Given the description of an element on the screen output the (x, y) to click on. 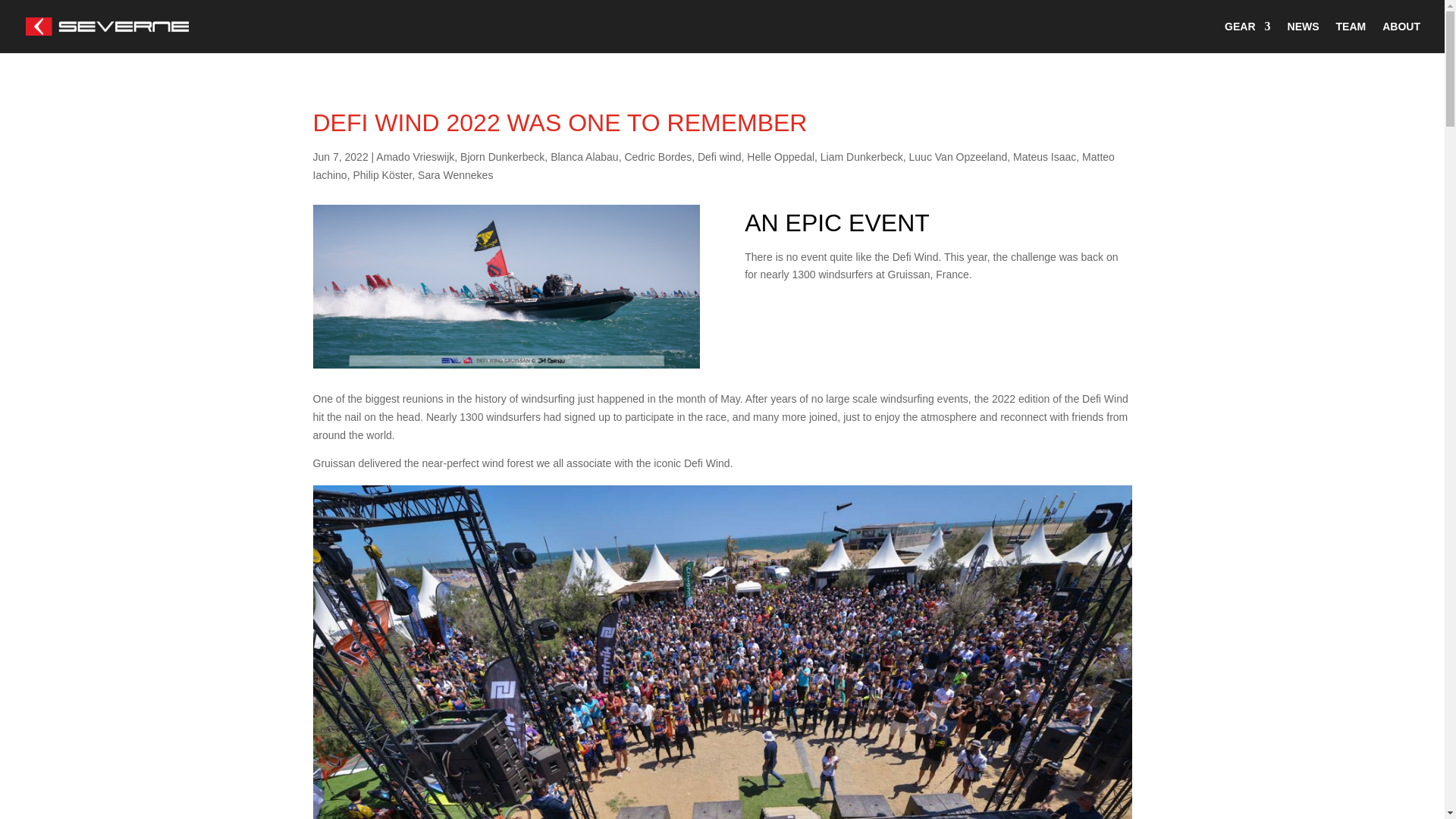
GEAR (1246, 37)
